Given the description of an element on the screen output the (x, y) to click on. 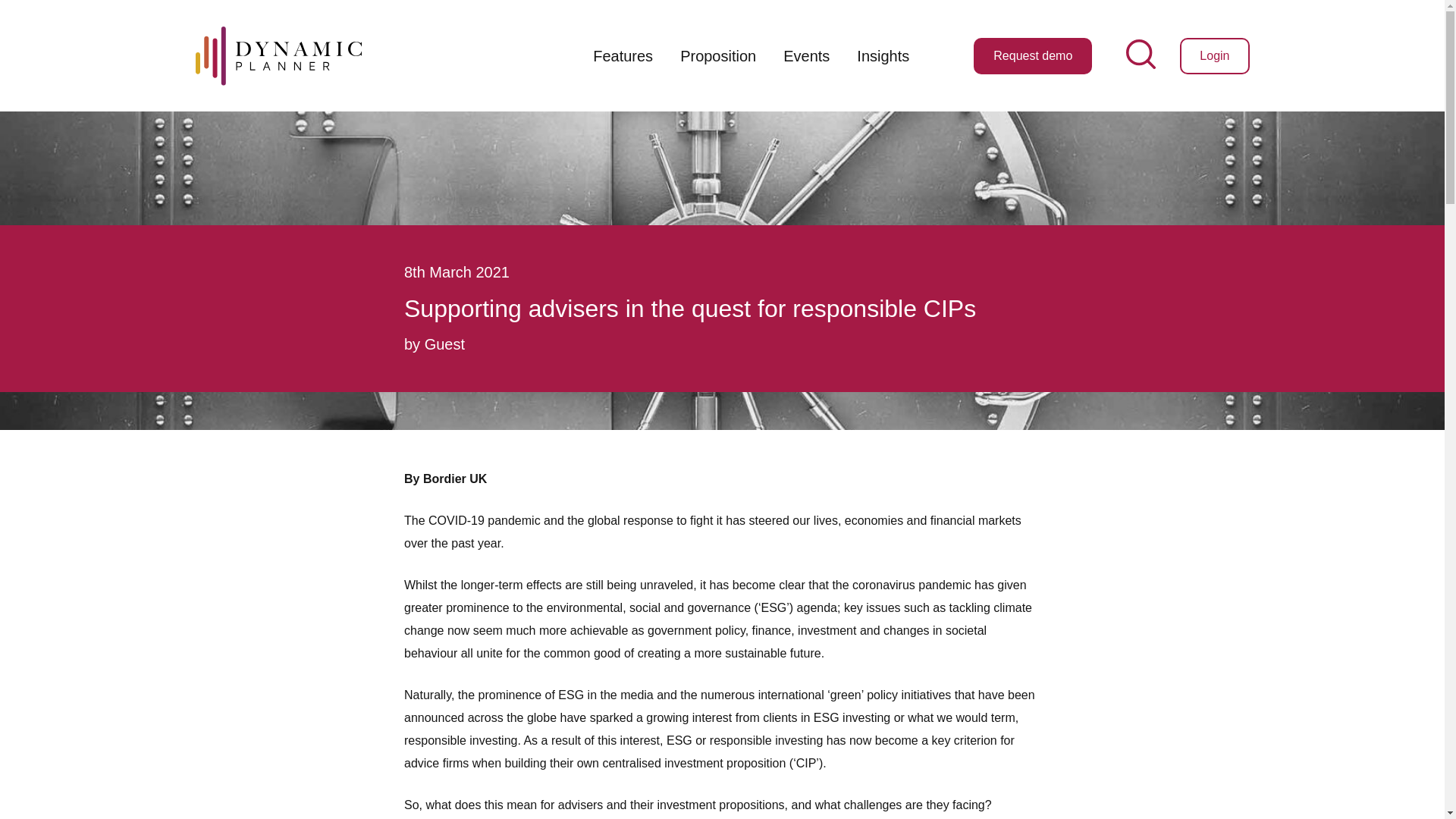
Events (806, 55)
Features (622, 55)
Proposition (718, 55)
Dynamic Planner (278, 55)
